Given the description of an element on the screen output the (x, y) to click on. 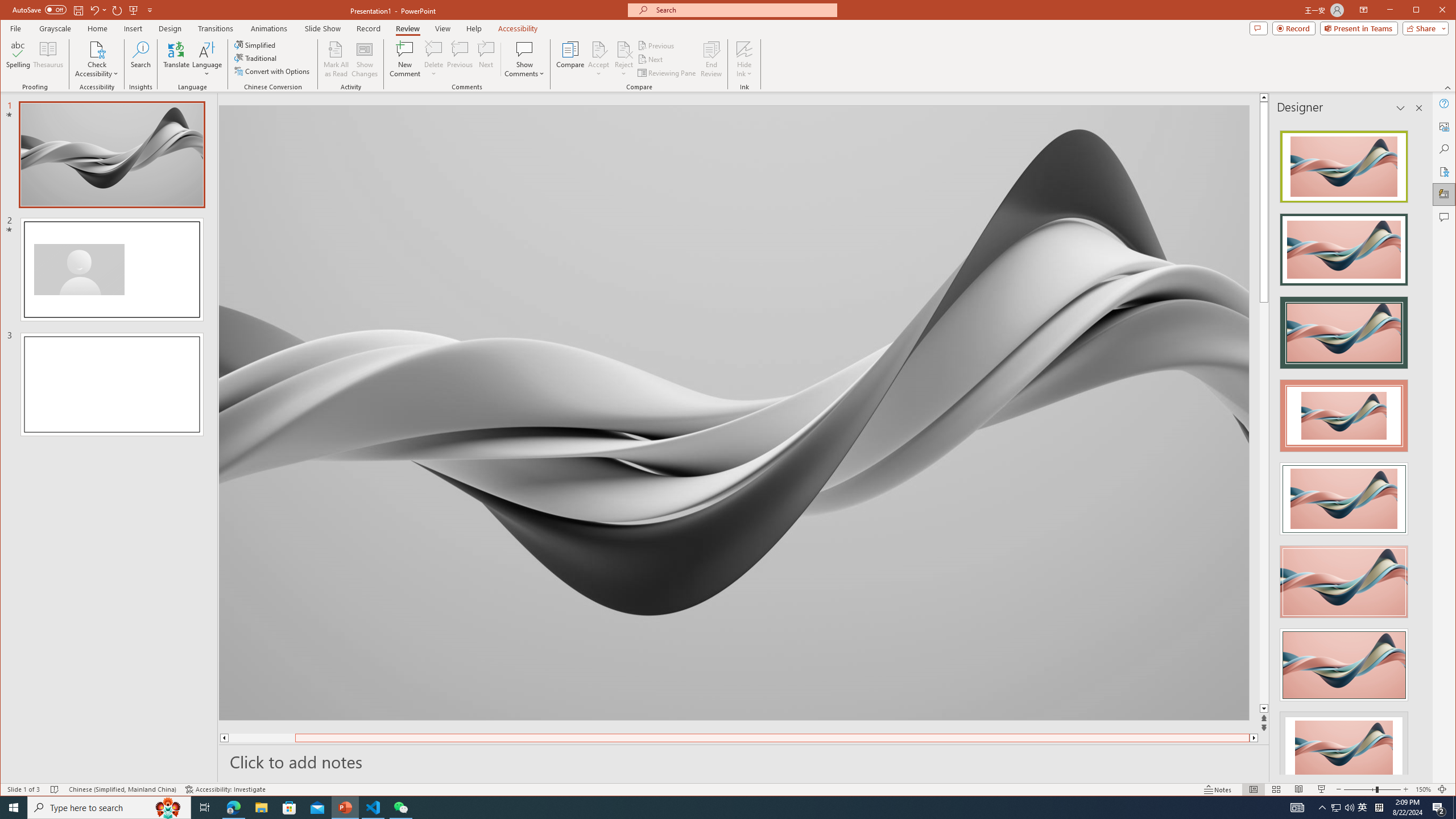
Wavy 3D art (733, 412)
Reject (623, 59)
Compare (569, 59)
